Given the description of an element on the screen output the (x, y) to click on. 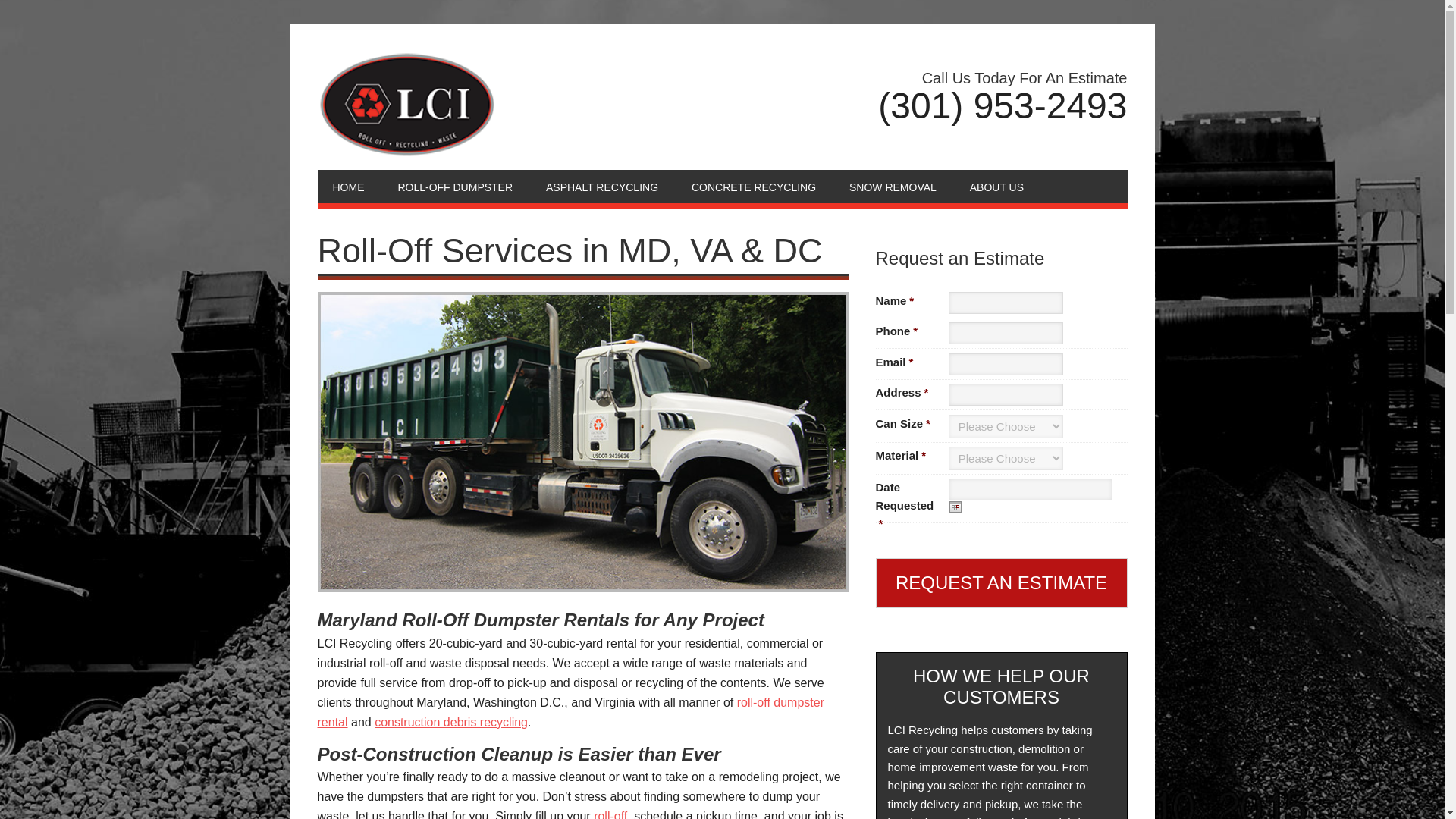
ABOUT US (997, 186)
CONCRETE RECYCLING (754, 186)
Request an Estimate (1000, 582)
ASPHALT RECYCLING (601, 186)
roll-off dumpster rental (570, 712)
ROLL-OFF DUMPSTER (454, 186)
HOME (347, 186)
SNOW REMOVAL (893, 186)
LCI RECYCLING (560, 104)
roll-off (610, 814)
construction debris recycling (450, 721)
